Given the description of an element on the screen output the (x, y) to click on. 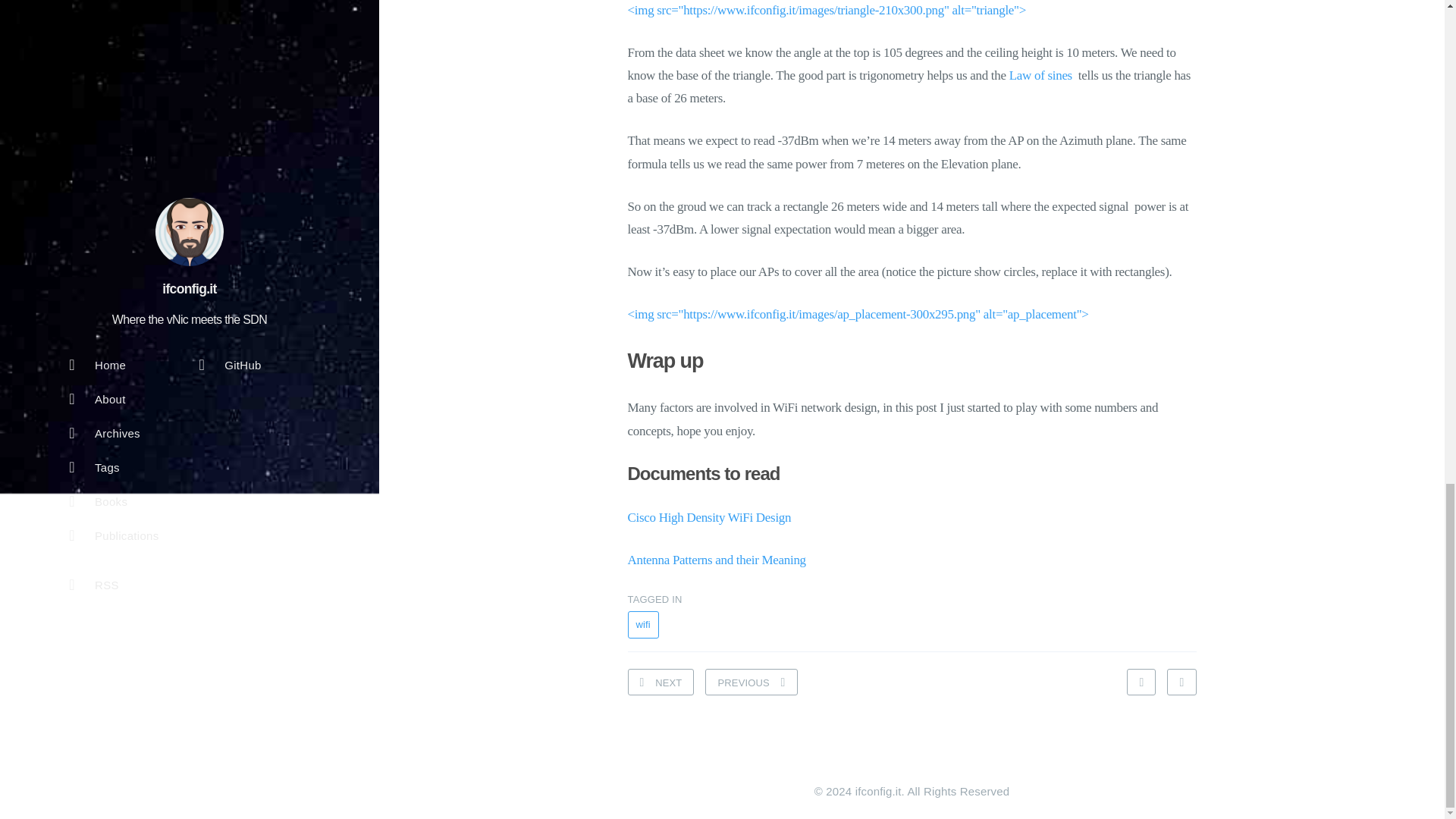
PREVIOUS (750, 682)
wifi (643, 624)
Antenna Patterns and their Meaning (716, 559)
Law of sines (1040, 74)
Cisco High Density WiFi Design (709, 517)
Share on Twitter (1181, 682)
Share on Twitter (817, 35)
NEXT (660, 682)
